Given the description of an element on the screen output the (x, y) to click on. 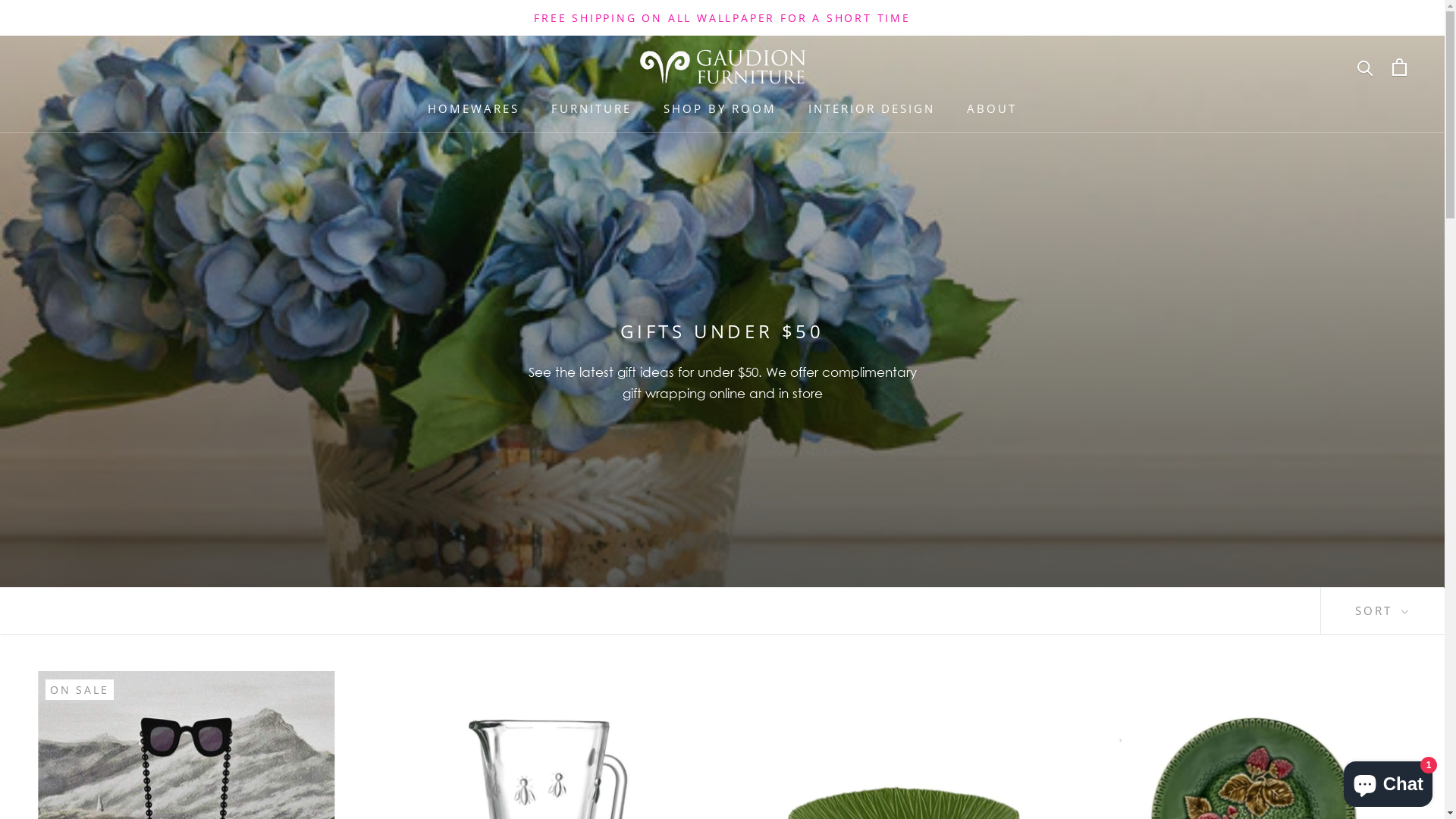
ABOUT Element type: text (991, 108)
HOMEWARES
HOMEWARES Element type: text (473, 108)
Shopify online store chat Element type: hover (1388, 780)
SORT Element type: text (1382, 610)
INTERIOR DESIGN Element type: text (871, 108)
SHOP BY ROOM Element type: text (719, 108)
FURNITURE
FURNITURE Element type: text (591, 108)
